Given the description of an element on the screen output the (x, y) to click on. 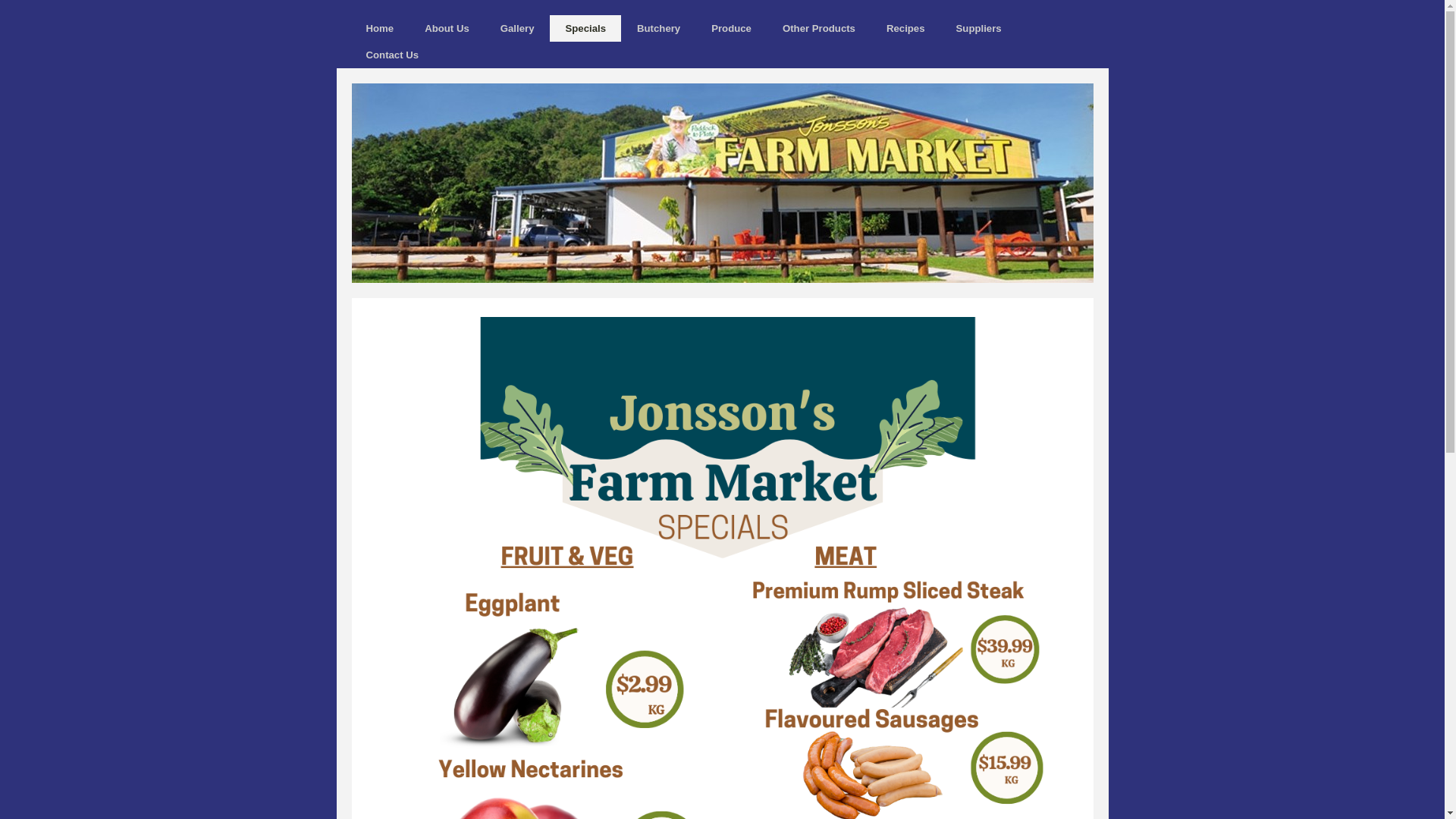
Suppliers Element type: text (978, 28)
Produce Element type: text (731, 28)
Contact Us Element type: text (391, 54)
Other Products Element type: text (818, 28)
Gallery Element type: text (517, 28)
Specials Element type: text (585, 28)
Recipes Element type: text (905, 28)
Home Element type: text (379, 28)
About Us Element type: text (446, 28)
Butchery Element type: text (658, 28)
